Given the description of an element on the screen output the (x, y) to click on. 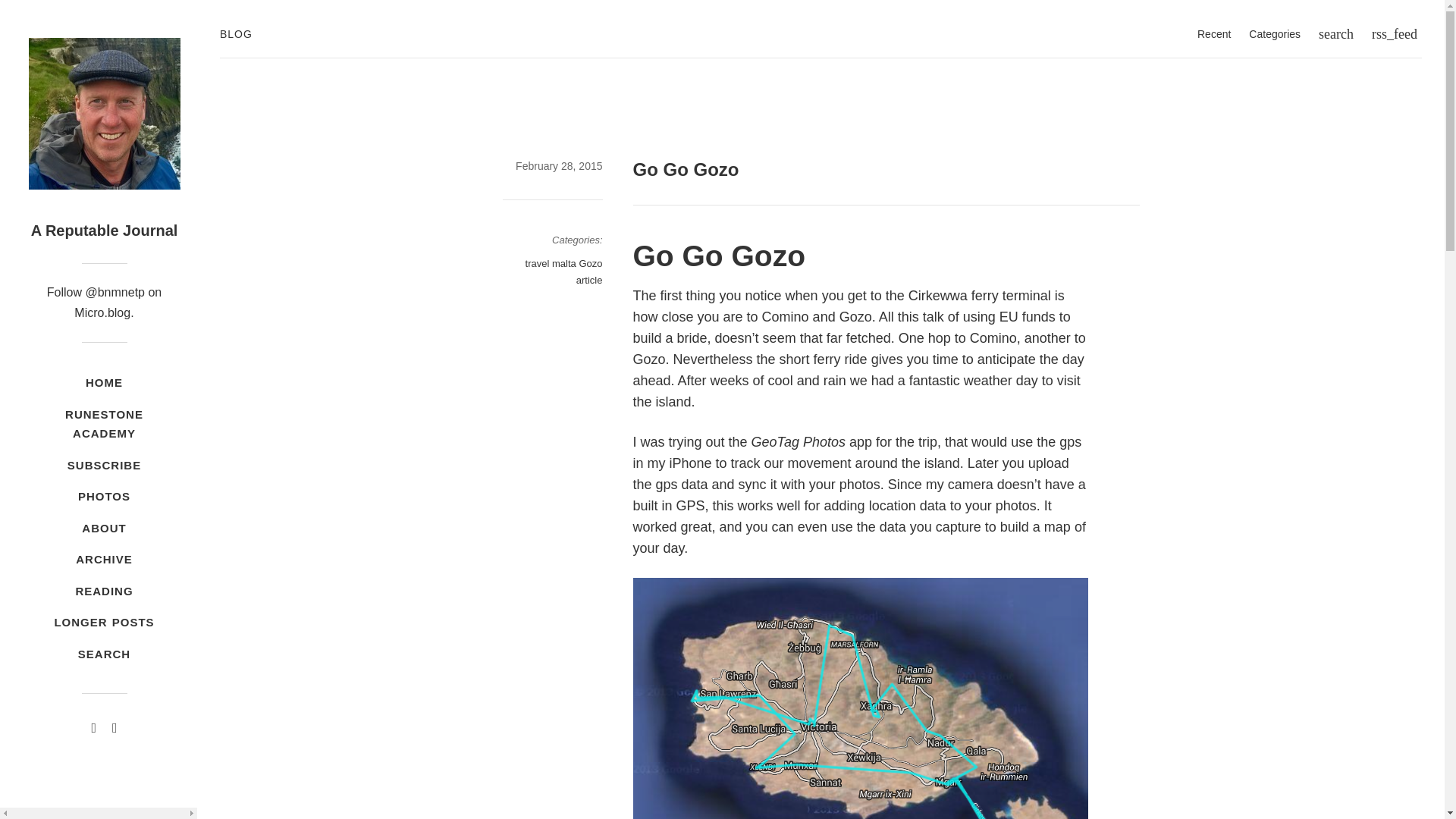
Categories (1274, 33)
ARCHIVE (103, 559)
LONGER POSTS (103, 622)
HOME (103, 382)
SUBSCRIBE (103, 465)
SEARCH (103, 654)
search (1335, 33)
ABOUT (103, 528)
READING (103, 591)
PHOTOS (103, 496)
